Given the description of an element on the screen output the (x, y) to click on. 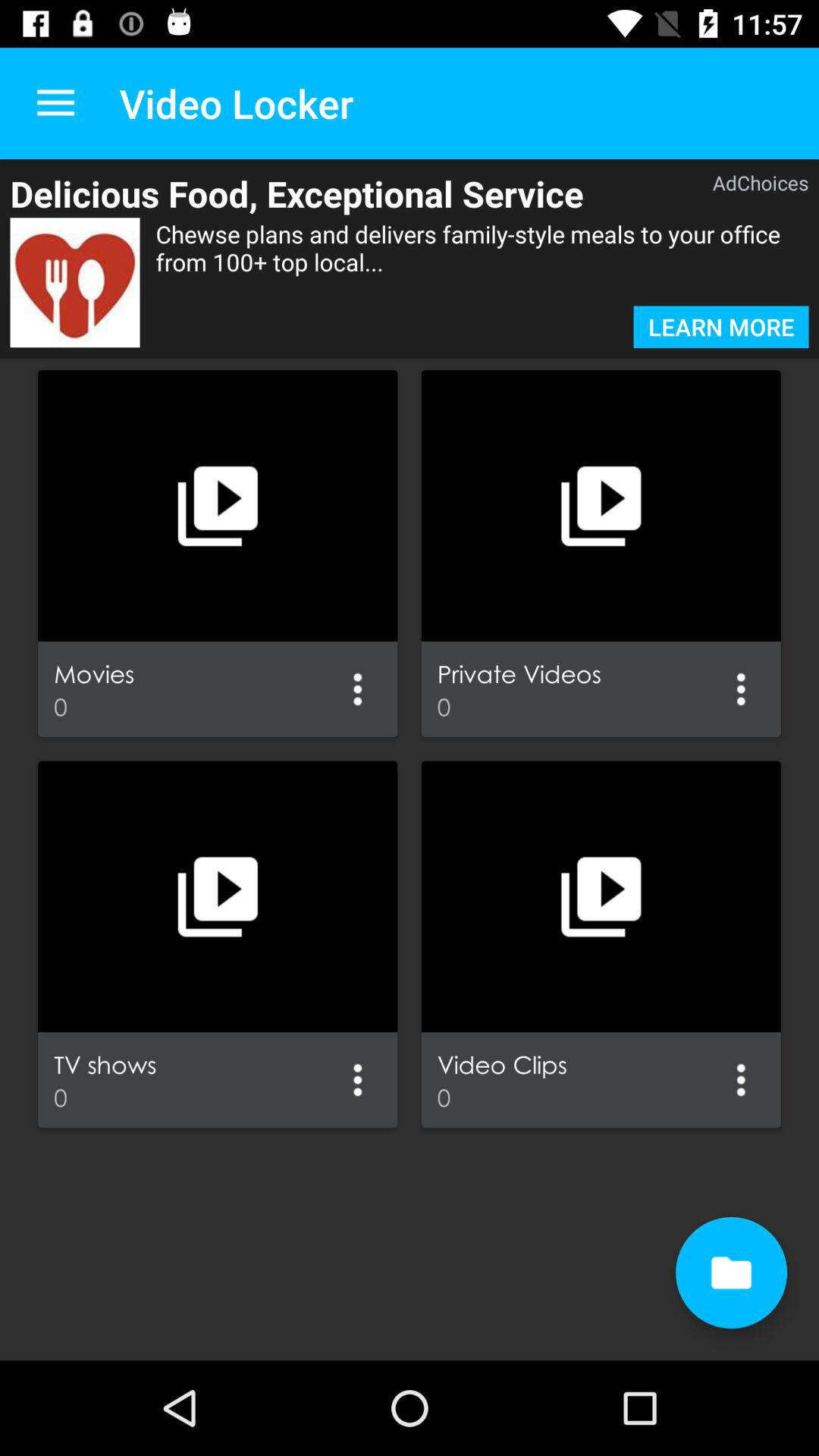
open the item above the delicious food exceptional (55, 103)
